Given the description of an element on the screen output the (x, y) to click on. 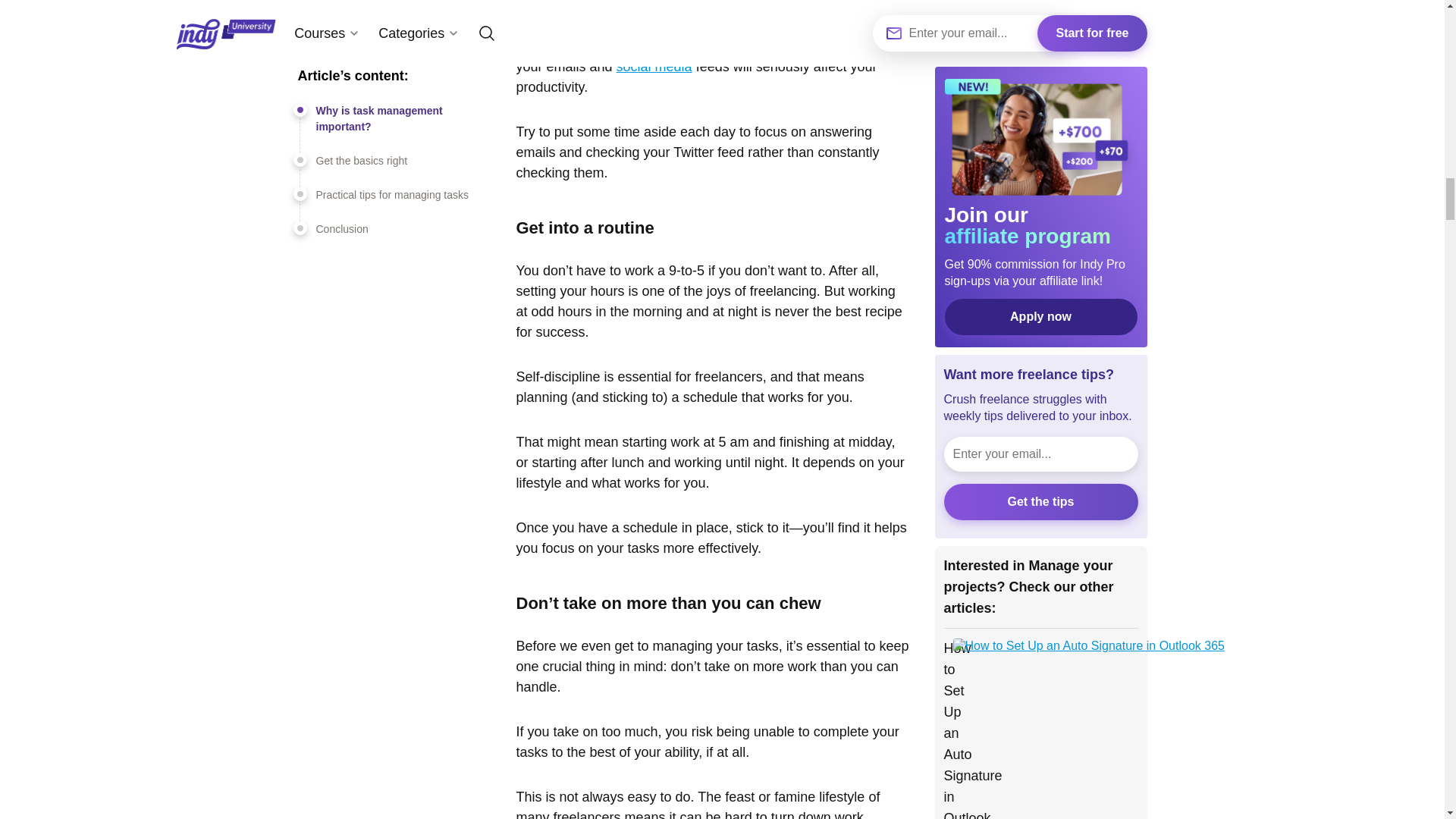
social media (654, 66)
